Given the description of an element on the screen output the (x, y) to click on. 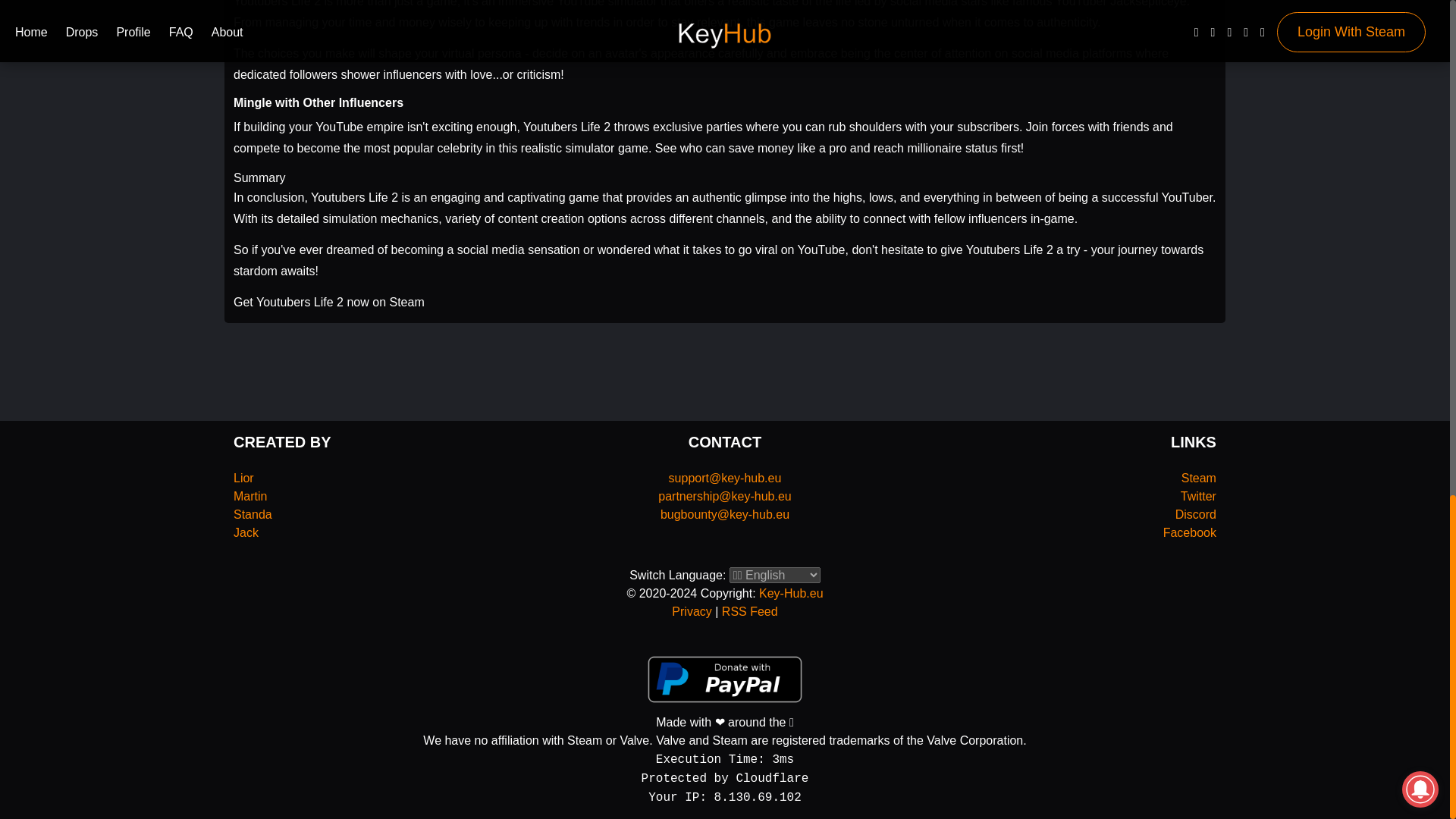
Privacy (691, 611)
Standa (252, 513)
Lior (242, 477)
Discord (1194, 513)
Steam (1197, 477)
Facebook (1189, 532)
Key-Hub.eu (791, 593)
Martin (249, 495)
Jack (245, 532)
Twitter (1197, 495)
RSS Feed (749, 611)
